Given the description of an element on the screen output the (x, y) to click on. 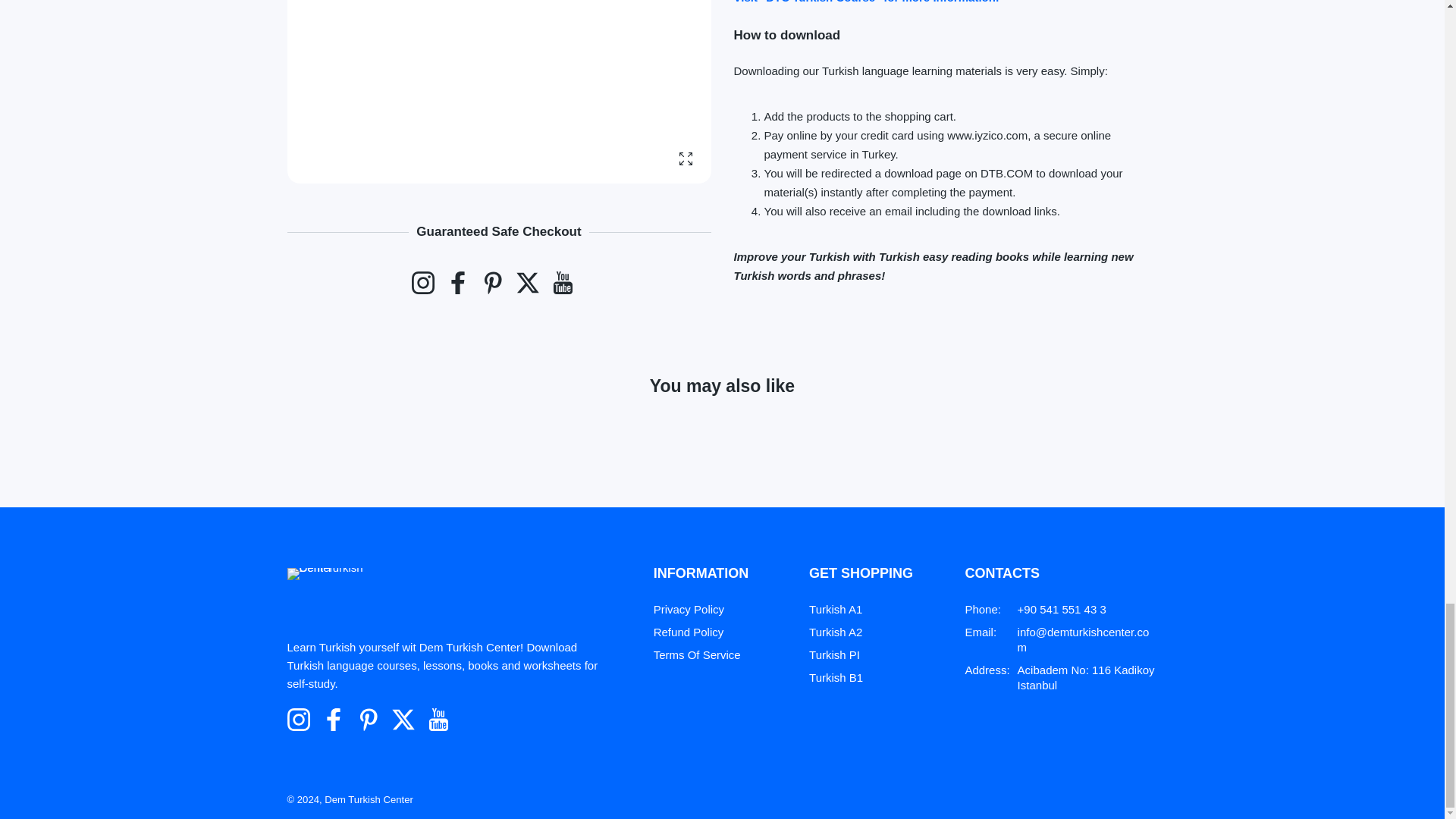
turkish language courses (865, 11)
Dem Turkish Center  (341, 610)
You may also like (722, 418)
